Given the description of an element on the screen output the (x, y) to click on. 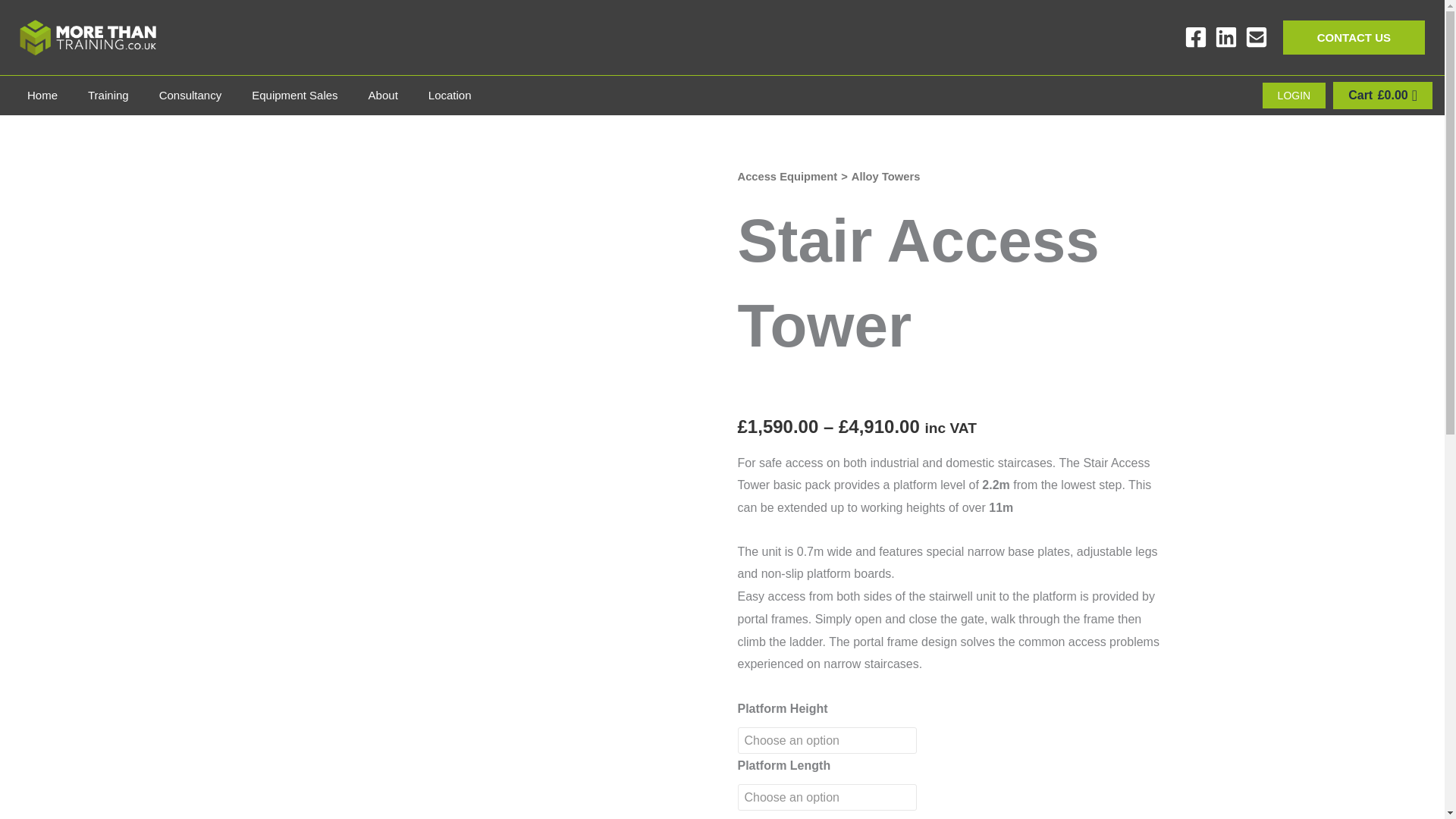
Home (41, 95)
Consultancy (190, 95)
About (383, 95)
CONTACT US (1353, 37)
Equipment Sales (293, 95)
Training (108, 95)
Facebook-square (1196, 36)
Linkedin (1225, 36)
Envelope-square (1256, 36)
Location (449, 95)
